Given the description of an element on the screen output the (x, y) to click on. 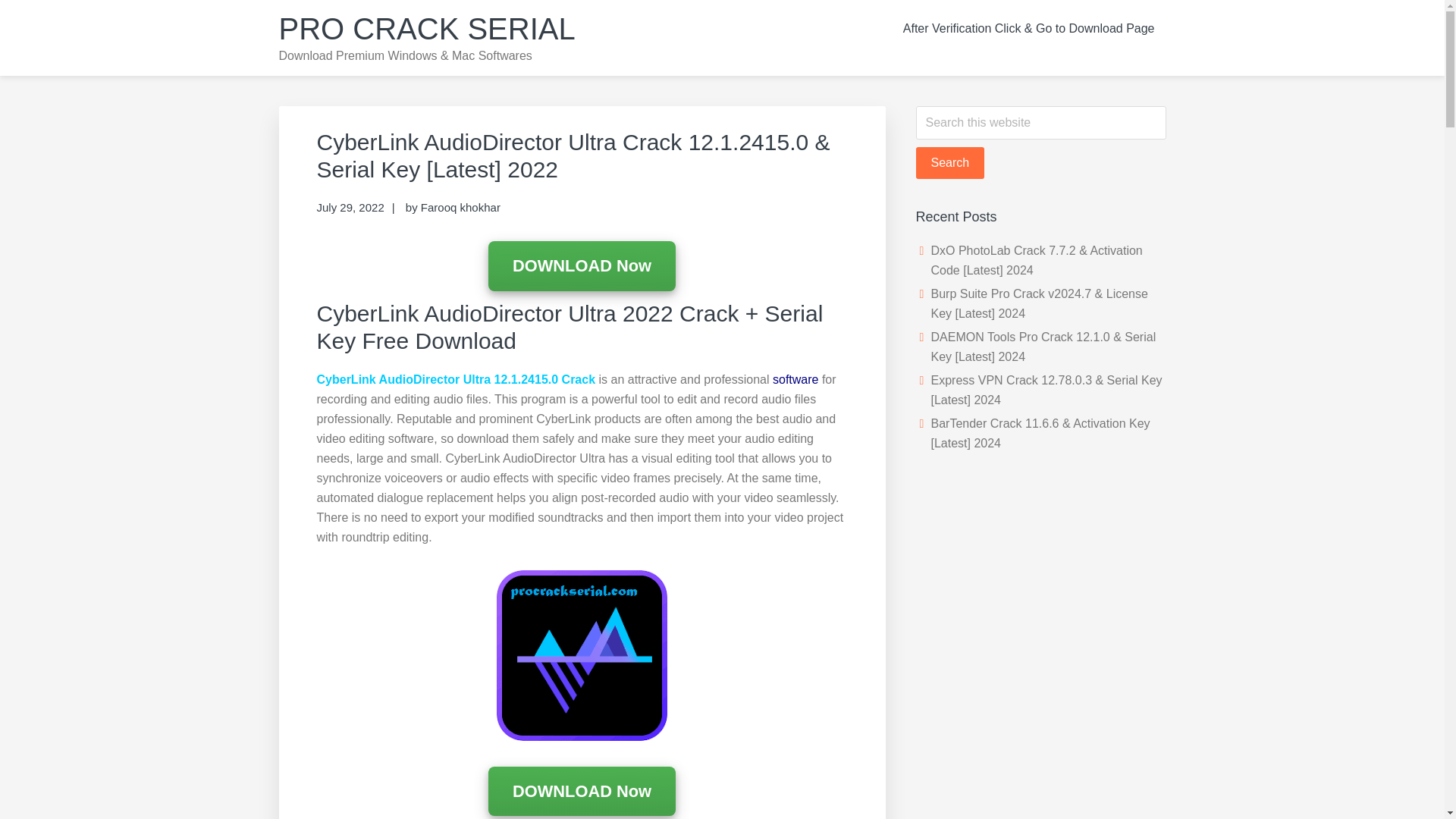
Search (950, 163)
DOWNLOAD Now (581, 267)
DOWNLOAD Now (581, 792)
Farooq khokhar (460, 206)
Search (950, 163)
Search (950, 163)
PRO CRACK SERIAL (427, 28)
DOWNLOAD Now (581, 265)
DOWNLOAD Now (581, 790)
software (795, 379)
